Given the description of an element on the screen output the (x, y) to click on. 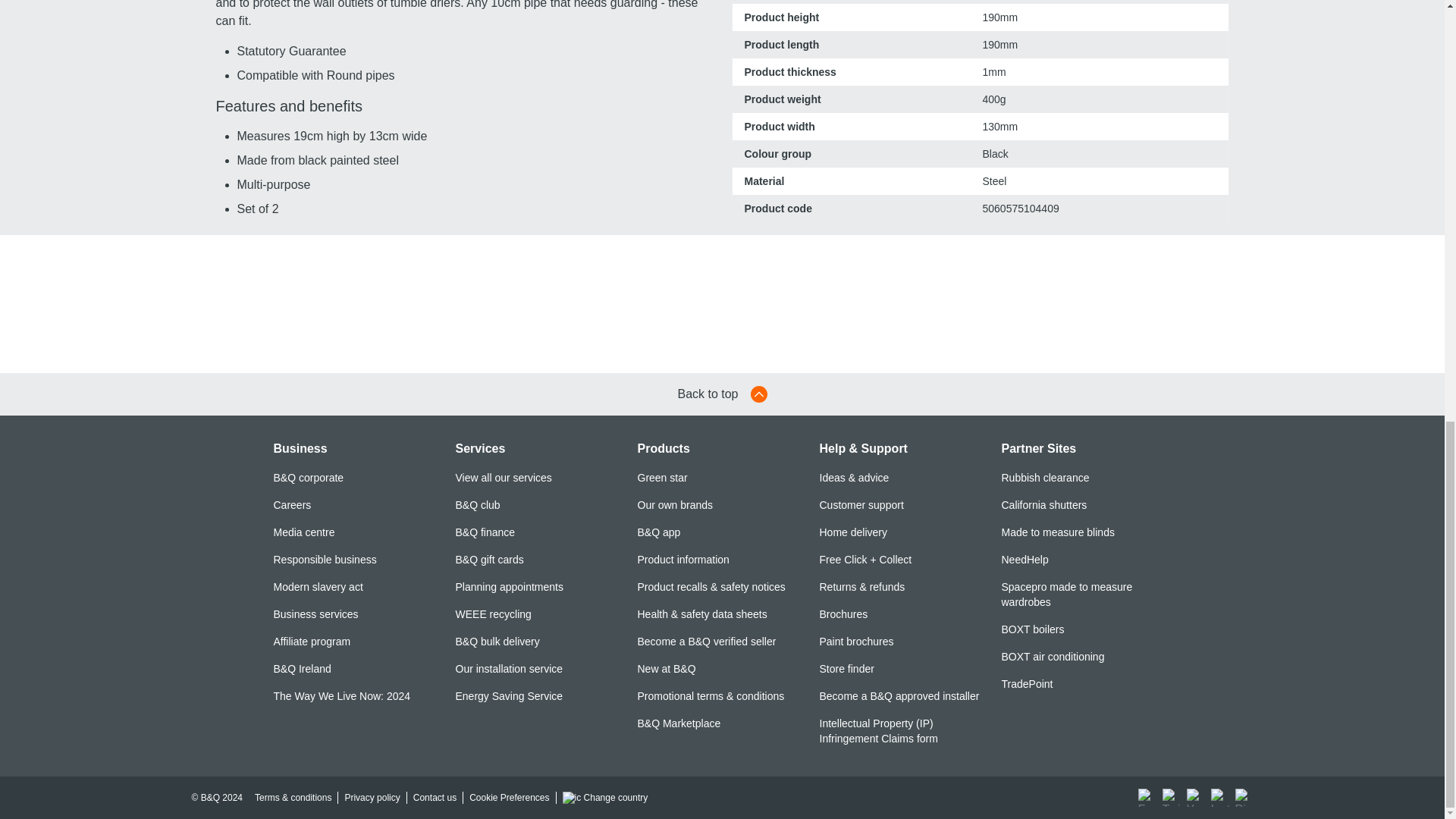
Pinterest (1243, 797)
icons.globe (571, 797)
Instagram (1218, 797)
YouTube (1195, 797)
Facebook (1146, 797)
Twitter (1170, 797)
